Given the description of an element on the screen output the (x, y) to click on. 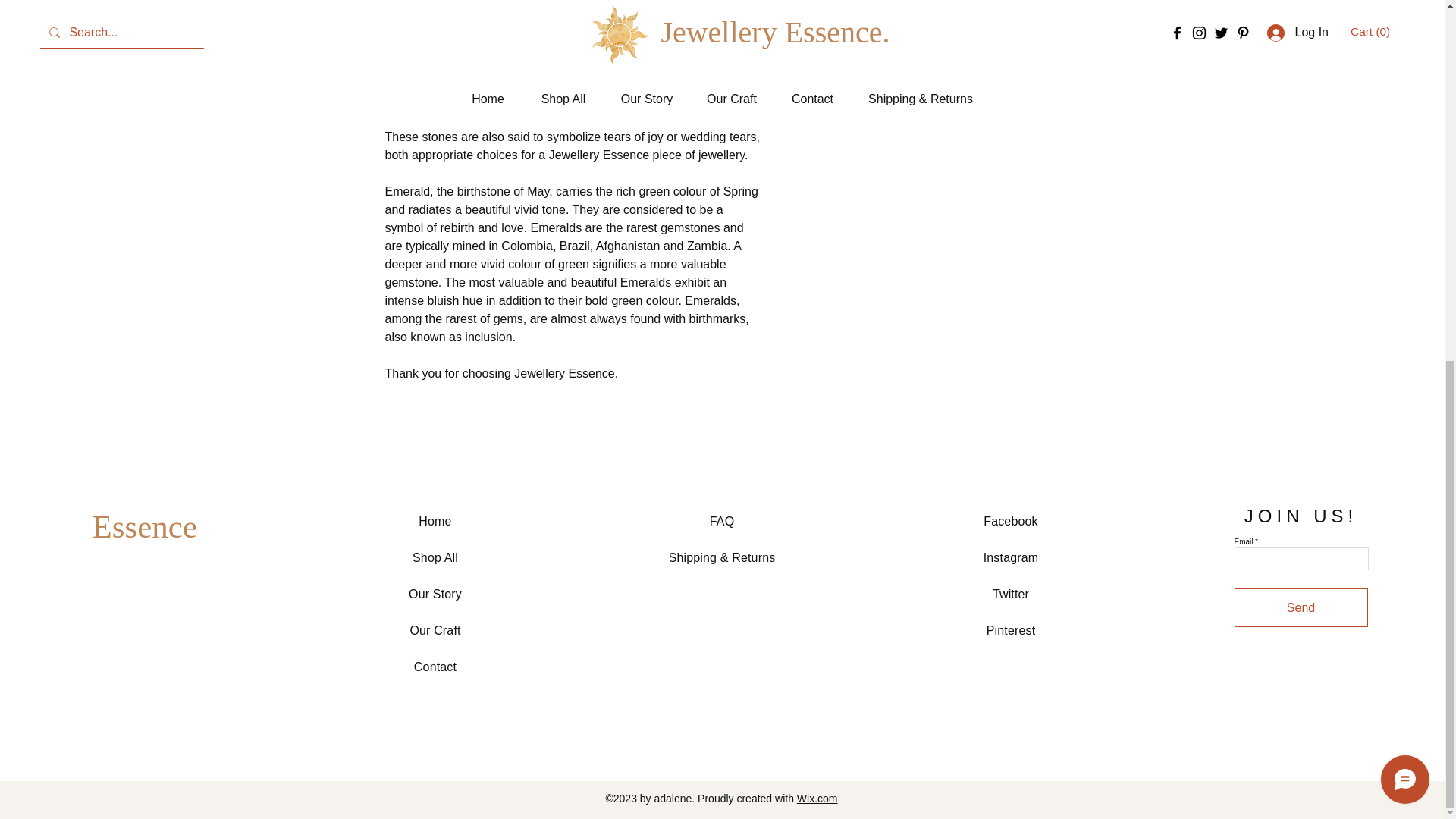
Facebook (1011, 521)
Our Story (435, 594)
Shop All (435, 557)
Instagram (1011, 557)
Contact (435, 666)
Home (435, 521)
Our Craft (434, 630)
Send (1301, 607)
Pinterest (1011, 630)
Twitter (1010, 594)
